Given the description of an element on the screen output the (x, y) to click on. 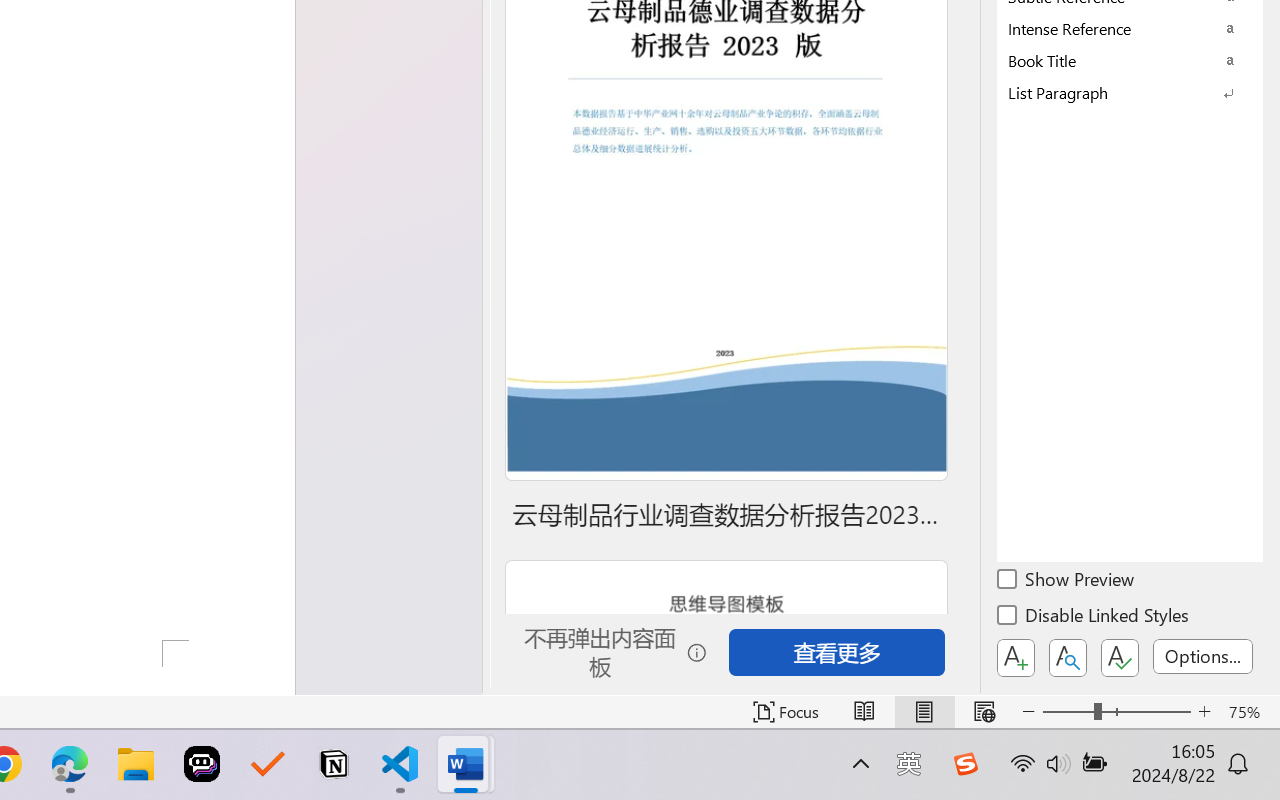
Web Layout (984, 712)
Intense Reference (1130, 28)
